Given the description of an element on the screen output the (x, y) to click on. 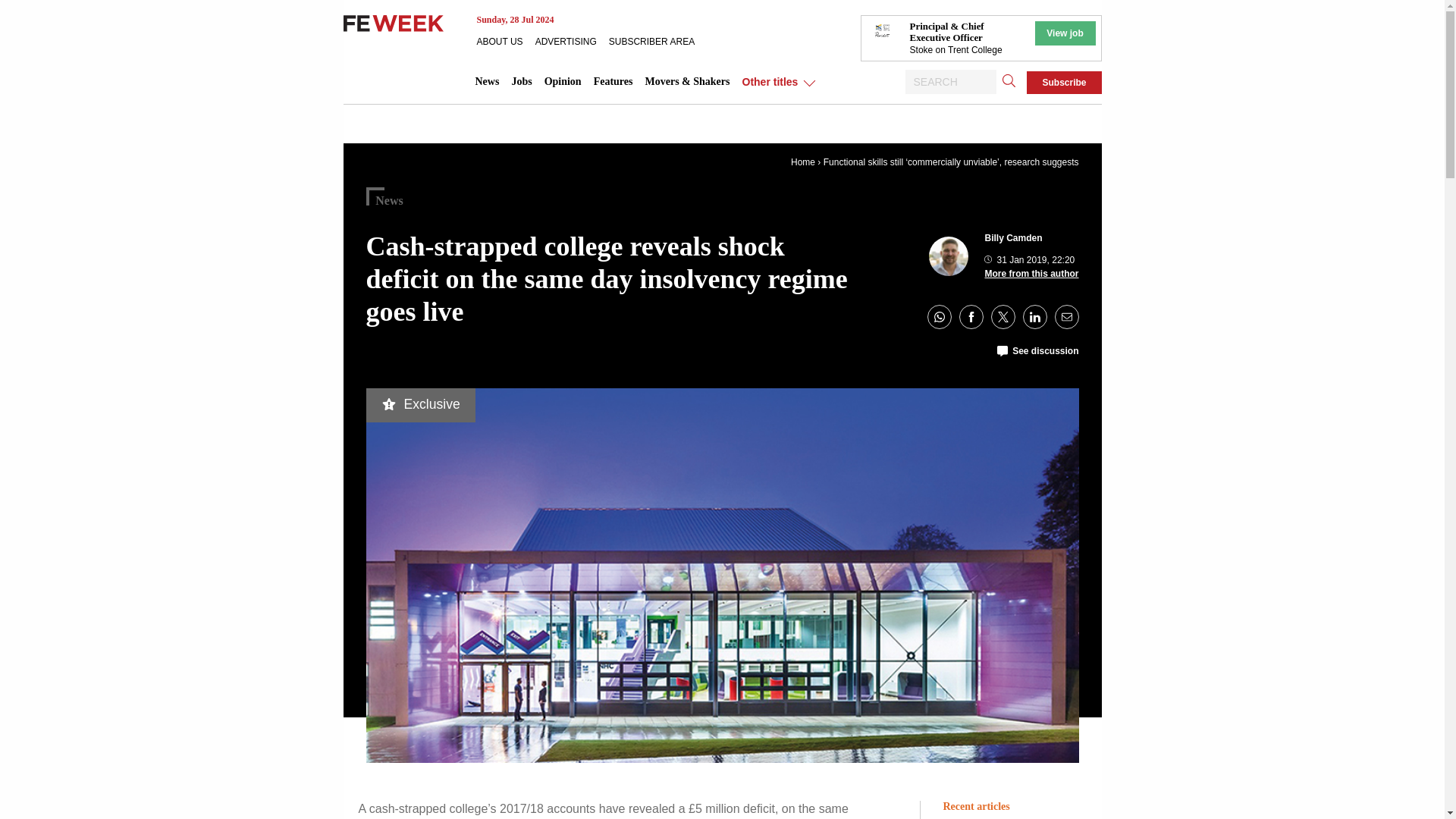
Home (802, 162)
SUBSCRIBER AREA (657, 41)
News (486, 81)
ADVERTISING (571, 41)
ABOUT US (505, 41)
Posts by Billy Camden (1013, 237)
View job (1063, 33)
